Given the description of an element on the screen output the (x, y) to click on. 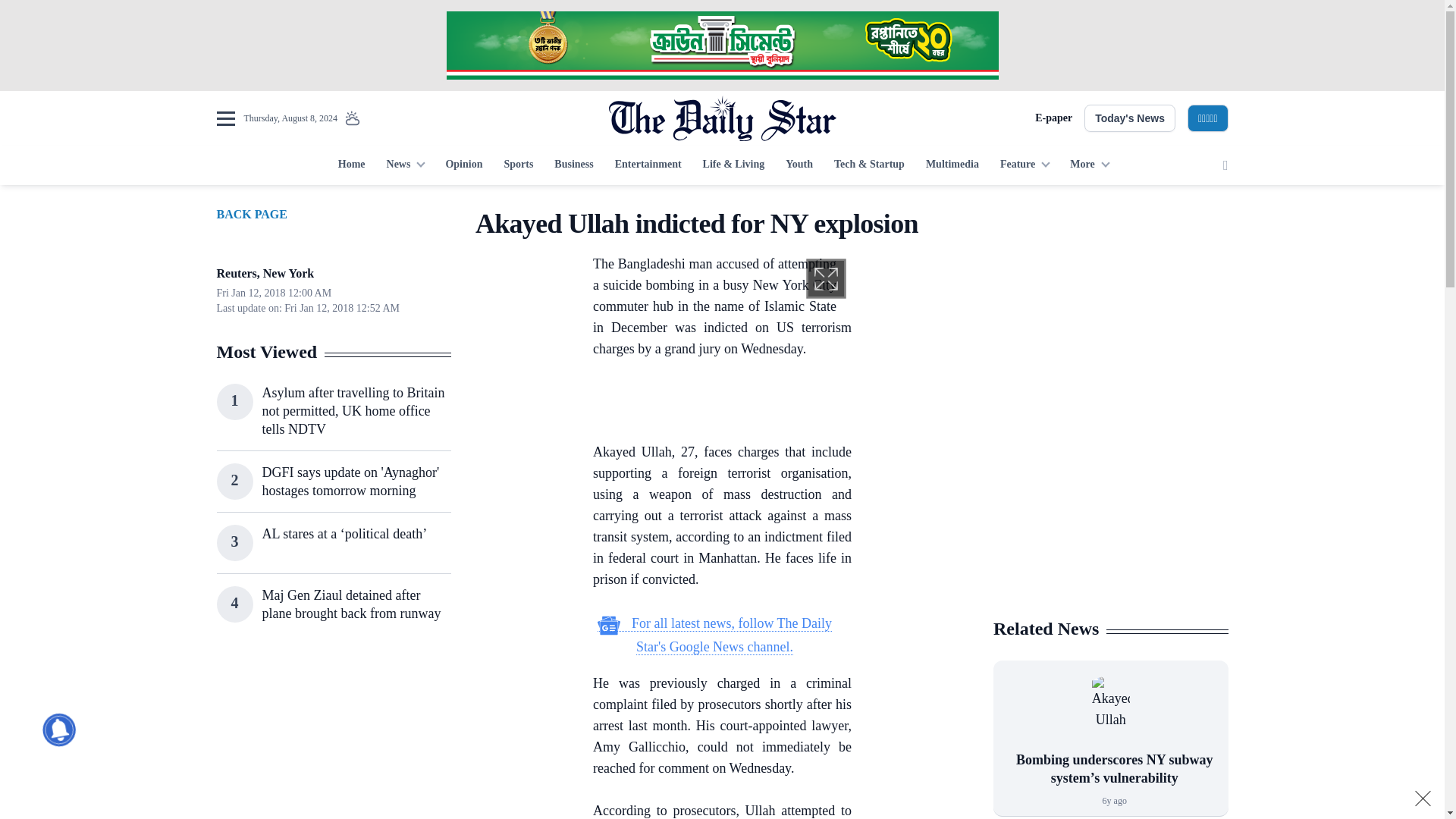
3rd party ad content (332, 736)
Home (351, 165)
E-paper (1053, 117)
Sports (518, 165)
Youth (799, 165)
News (405, 165)
3rd party ad content (721, 45)
Feature (1024, 165)
3rd party ad content (1110, 302)
Business (573, 165)
